Given the description of an element on the screen output the (x, y) to click on. 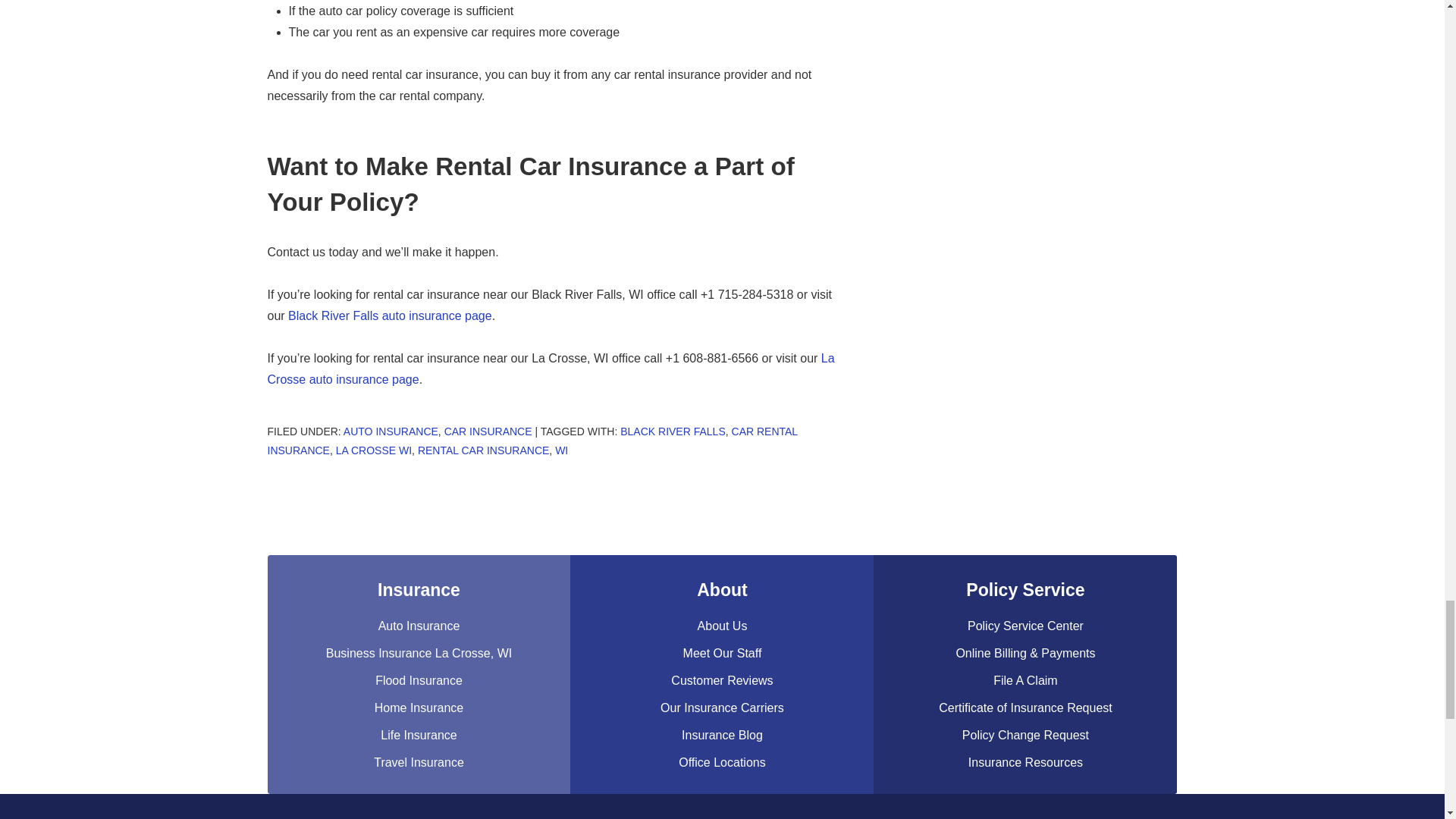
Auto Insurance (390, 431)
WI (560, 450)
Car Rental Insurance (531, 440)
Black River Falls (672, 431)
Rental Car Insurance (482, 450)
La Crosse WI (374, 450)
Car Insurance (488, 431)
